Given the description of an element on the screen output the (x, y) to click on. 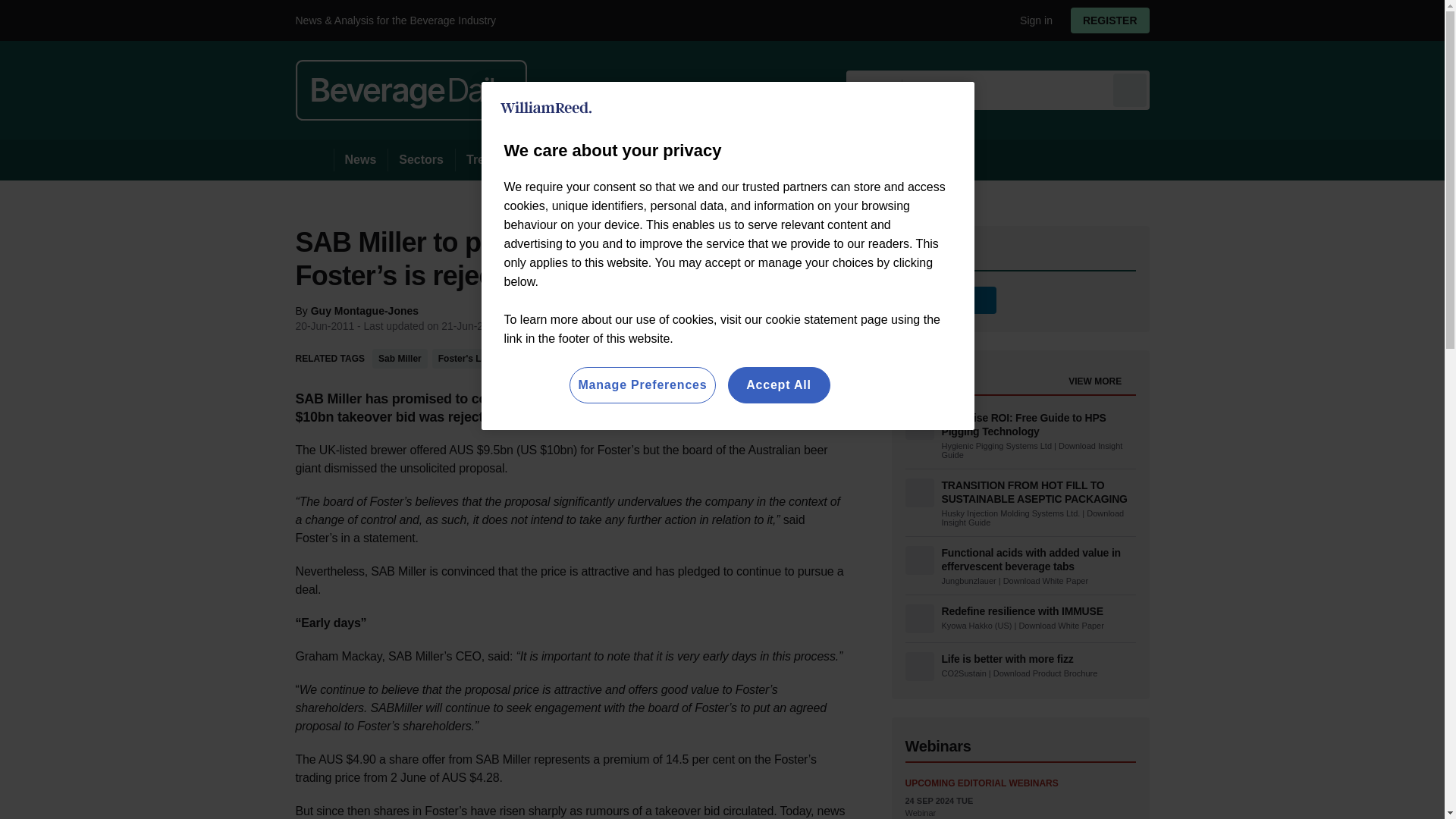
Sign out (1032, 20)
Sectors (420, 159)
William Reed (545, 107)
REGISTER (1110, 20)
Home (314, 159)
Send (1129, 89)
News (360, 159)
Trends (485, 159)
My account (1114, 20)
Home (313, 159)
BeverageDaily (411, 89)
Send (1129, 90)
Sign in (1029, 20)
